Given the description of an element on the screen output the (x, y) to click on. 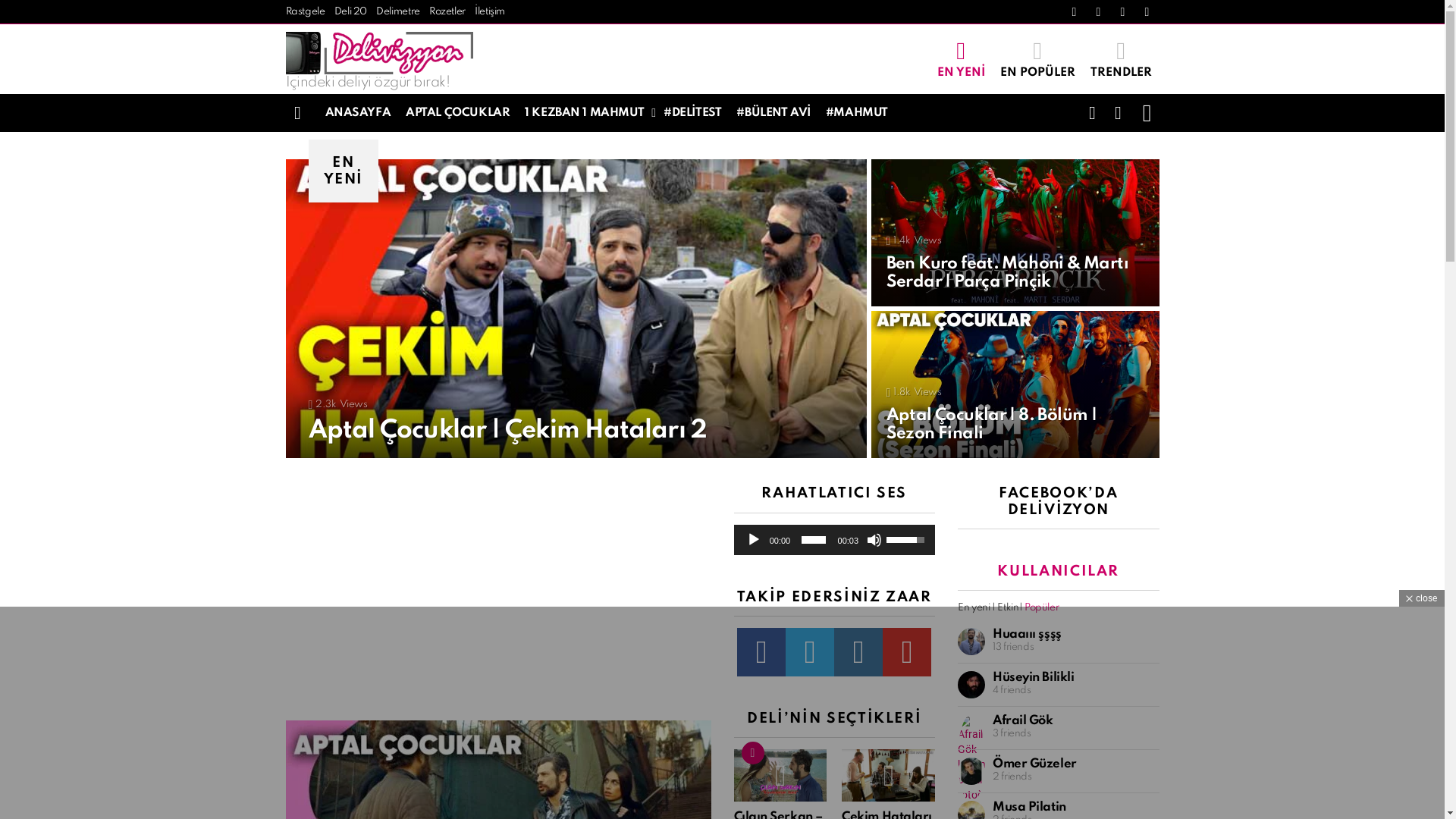
#MAHMUT Element type: text (856, 112)
Musa Pilatin Element type: text (1029, 806)
youtube Element type: text (906, 651)
Oynat Element type: hover (753, 539)
youtube Element type: text (1146, 11)
Sessiz Element type: hover (873, 539)
Menu Element type: text (297, 112)
Delimetre Element type: text (398, 12)
twitter Element type: text (809, 651)
Rastgele Element type: text (304, 12)
EN YENI Element type: text (960, 58)
instagram Element type: text (858, 651)
Deli 20 Element type: text (350, 12)
twitter Element type: text (1097, 11)
En yeni Element type: text (973, 607)
1 KEZBAN 1 MAHMUT Element type: text (586, 112)
Etkin Element type: text (1007, 607)
facebook Element type: text (761, 651)
Advertisement Element type: hover (497, 591)
Trending Element type: text (752, 752)
Rozetler Element type: text (447, 12)
facebook Element type: text (1073, 11)
#DELITEST Element type: text (691, 112)
ANASAYFA Element type: text (357, 112)
LOGIN Element type: text (1146, 112)
KULLANICILAR Element type: text (1058, 571)
FOLLOW US Element type: text (1091, 112)
instagram Element type: text (1122, 11)
SEARCH Element type: text (1117, 112)
TRENDLER Element type: text (1120, 58)
